Given the description of an element on the screen output the (x, y) to click on. 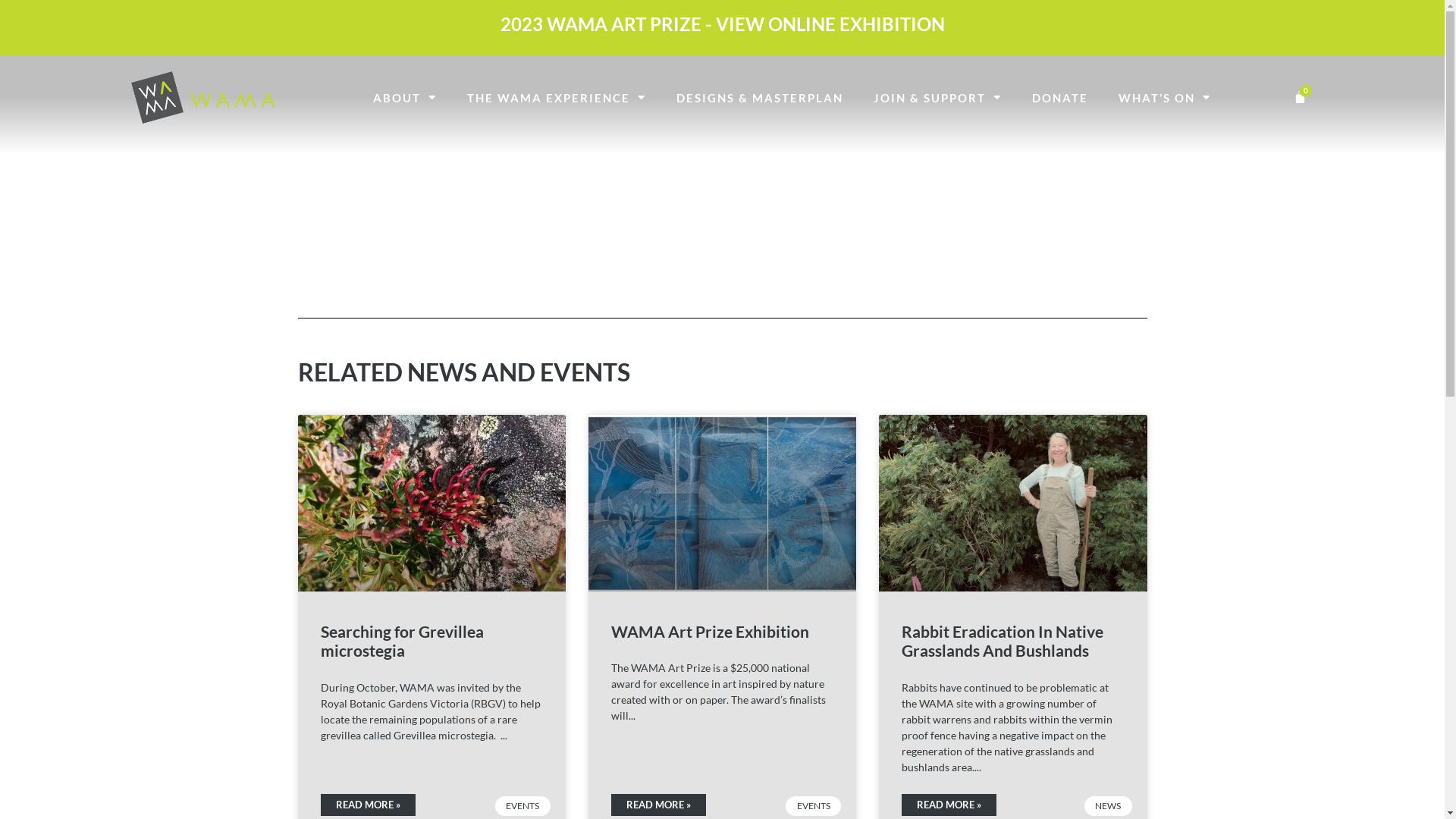
JOIN & SUPPORT Element type: text (937, 97)
0 Element type: text (1299, 96)
ABOUT Element type: text (404, 97)
DONATE Element type: text (1059, 97)
THE WAMA EXPERIENCE Element type: text (556, 97)
2023 WAMA ART PRIZE - VIEW ONLINE EXHIBITION Element type: text (722, 23)
WAMA Art Prize Exhibition Element type: text (710, 630)
DESIGNS & MASTERPLAN Element type: text (759, 97)
Rabbit Eradication In Native Grasslands And Bushlands Element type: text (1002, 640)
Searching for Grevillea microstegia Element type: text (401, 640)
